Given the description of an element on the screen output the (x, y) to click on. 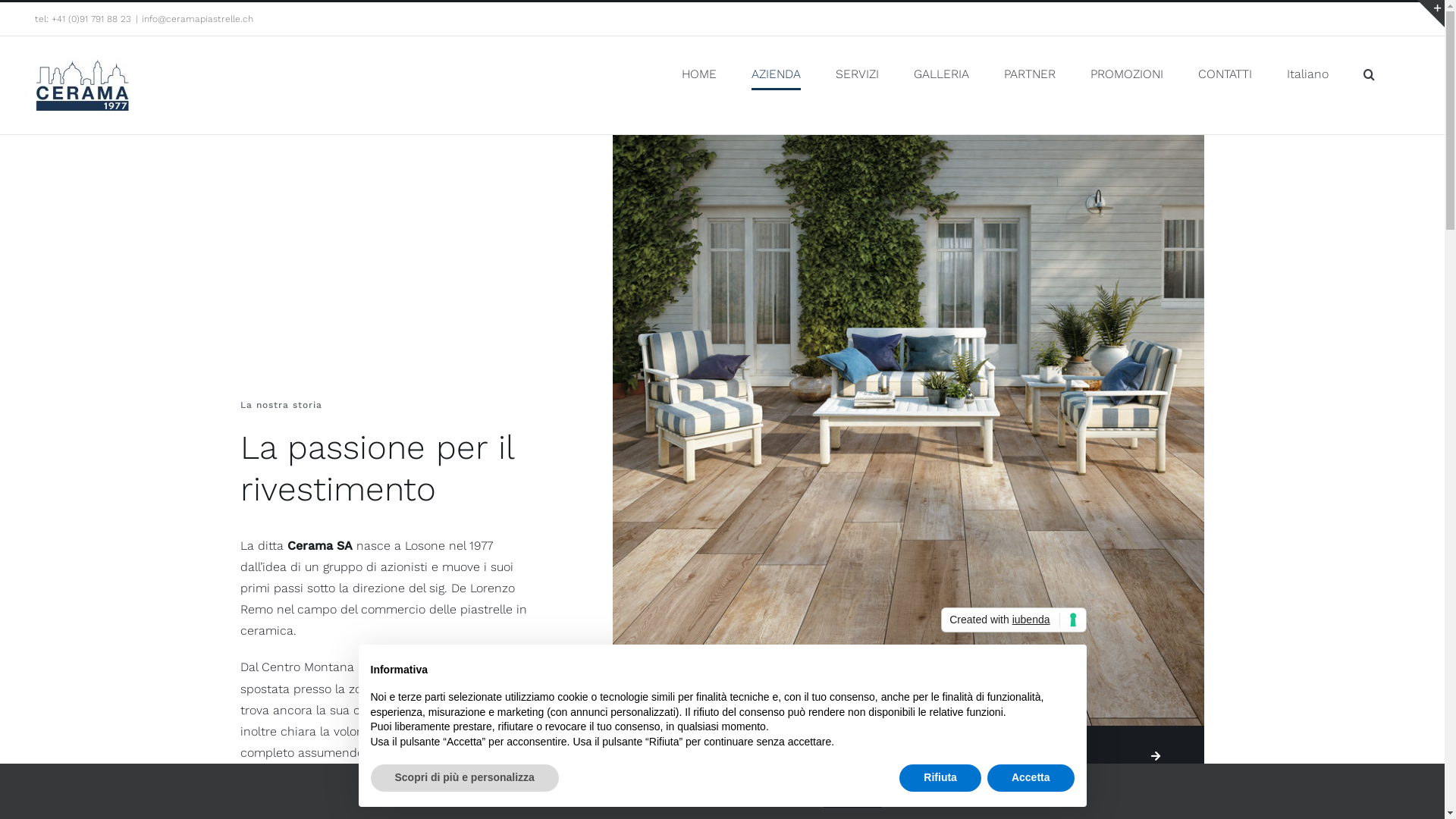
maggiori informazioni Element type: text (1268, 781)
SERVIZI Element type: text (856, 74)
Rifiuta Element type: text (940, 777)
OK Element type: text (852, 791)
Cerca Element type: hover (1368, 74)
Italiano Element type: text (1307, 74)
Accetta Element type: text (1030, 777)
AZIENDA Element type: text (775, 74)
GALLERIA Element type: text (941, 74)
CONTATTI Element type: text (1225, 74)
info@ceramapiastrelle.ch Element type: text (197, 18)
Toggle area barra scorrevole Element type: text (1430, 13)
HOME Element type: text (698, 74)
PARTNER Element type: text (1029, 74)
Mirage_E_Base_Outdoor_NN01_Daylight Element type: hover (907, 429)
Accetto Element type: text (1367, 780)
Created with iubenda Element type: text (1013, 620)
CONTATTACI Element type: text (976, 756)
PROMOZIONI Element type: text (1126, 74)
